Given the description of an element on the screen output the (x, y) to click on. 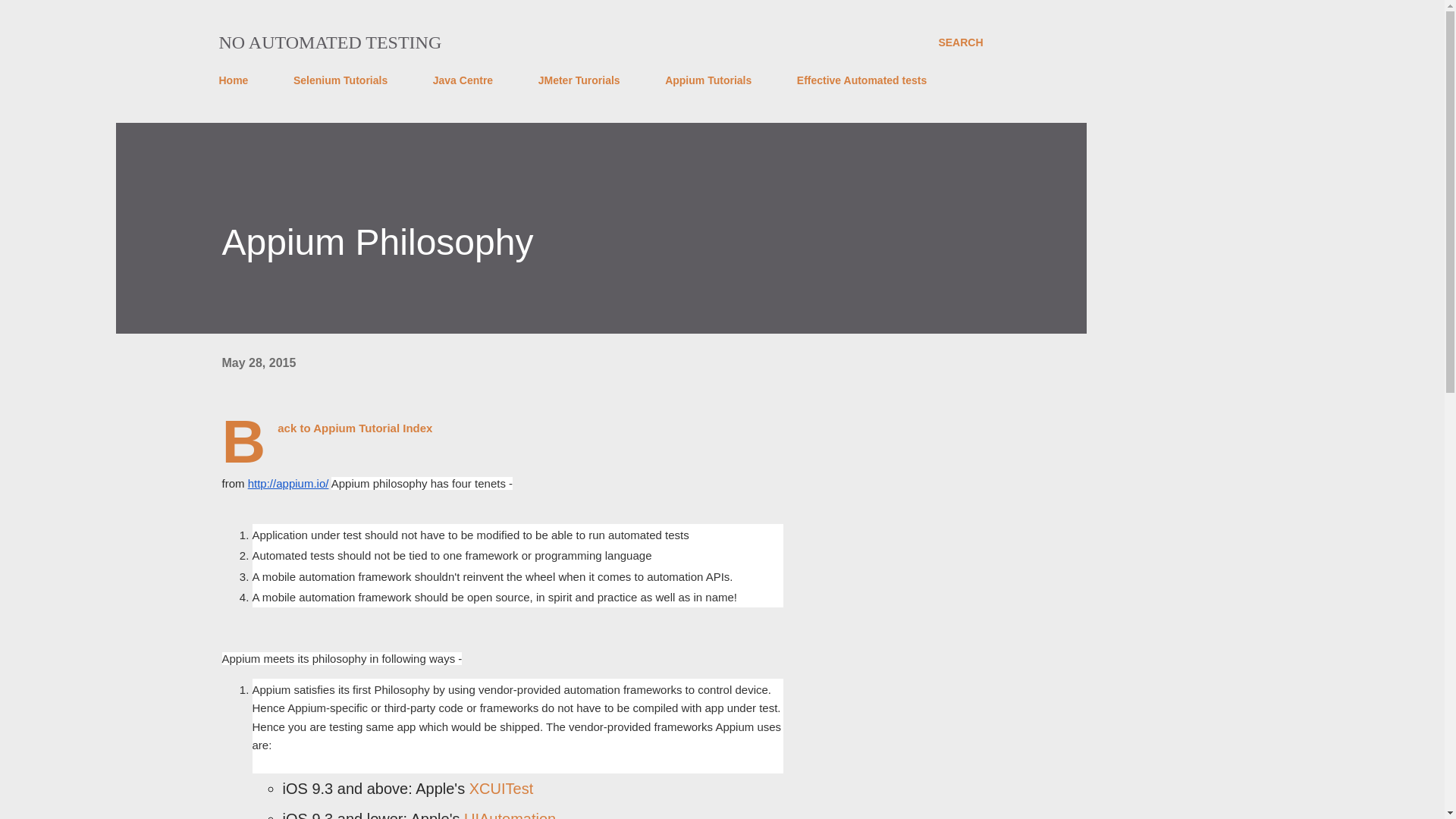
Java Centre (462, 80)
NO AUTOMATED TESTING (329, 42)
Effective Automated tests (861, 80)
permanent link (258, 362)
JMeter Turorials (578, 80)
May 28, 2015 (258, 362)
Selenium Tutorials (339, 80)
Back to Appium Tutorial Index (355, 427)
Home (237, 80)
UIAutomation (510, 814)
